Given the description of an element on the screen output the (x, y) to click on. 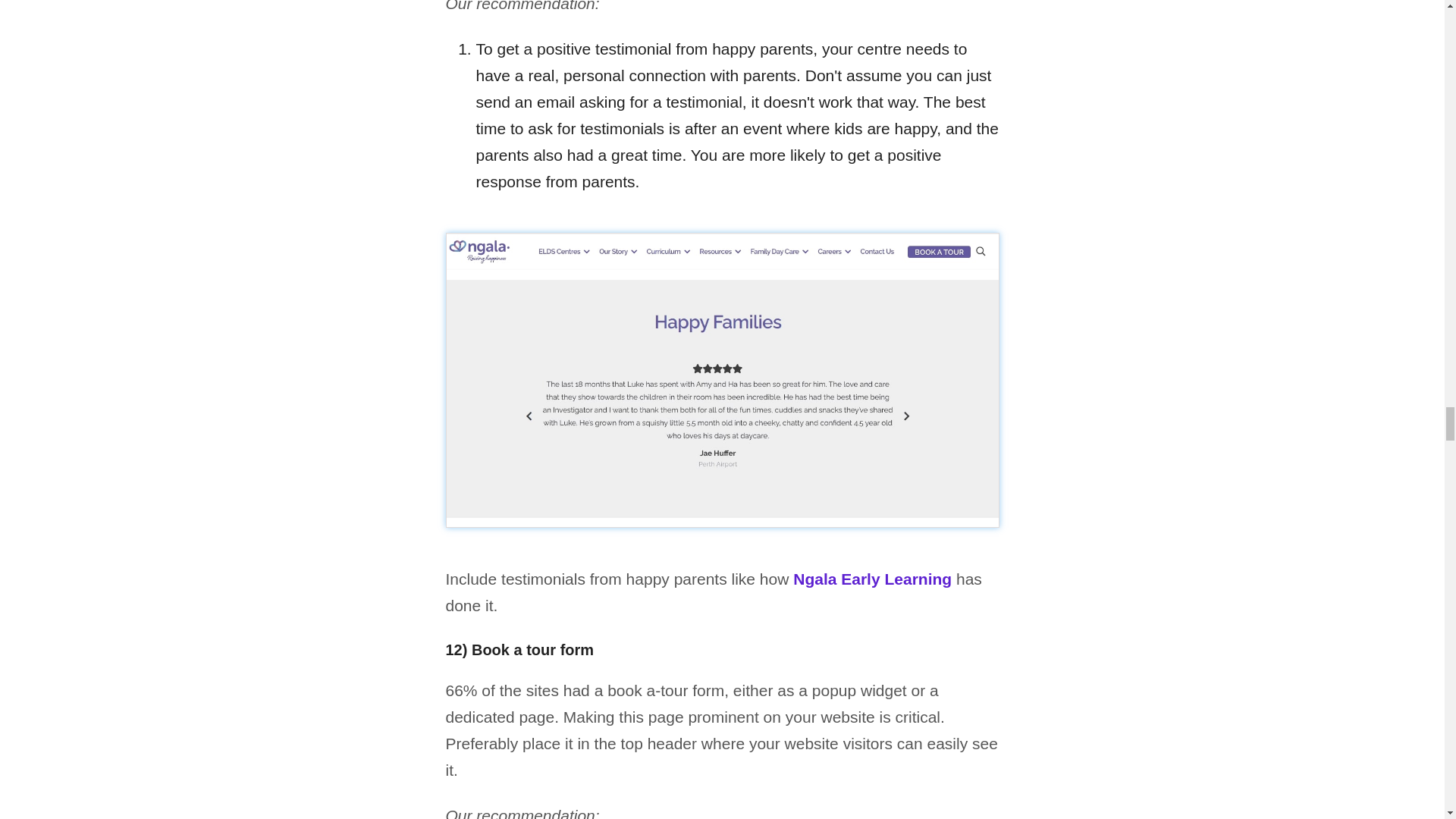
Ngala Early Learning (872, 579)
